Given the description of an element on the screen output the (x, y) to click on. 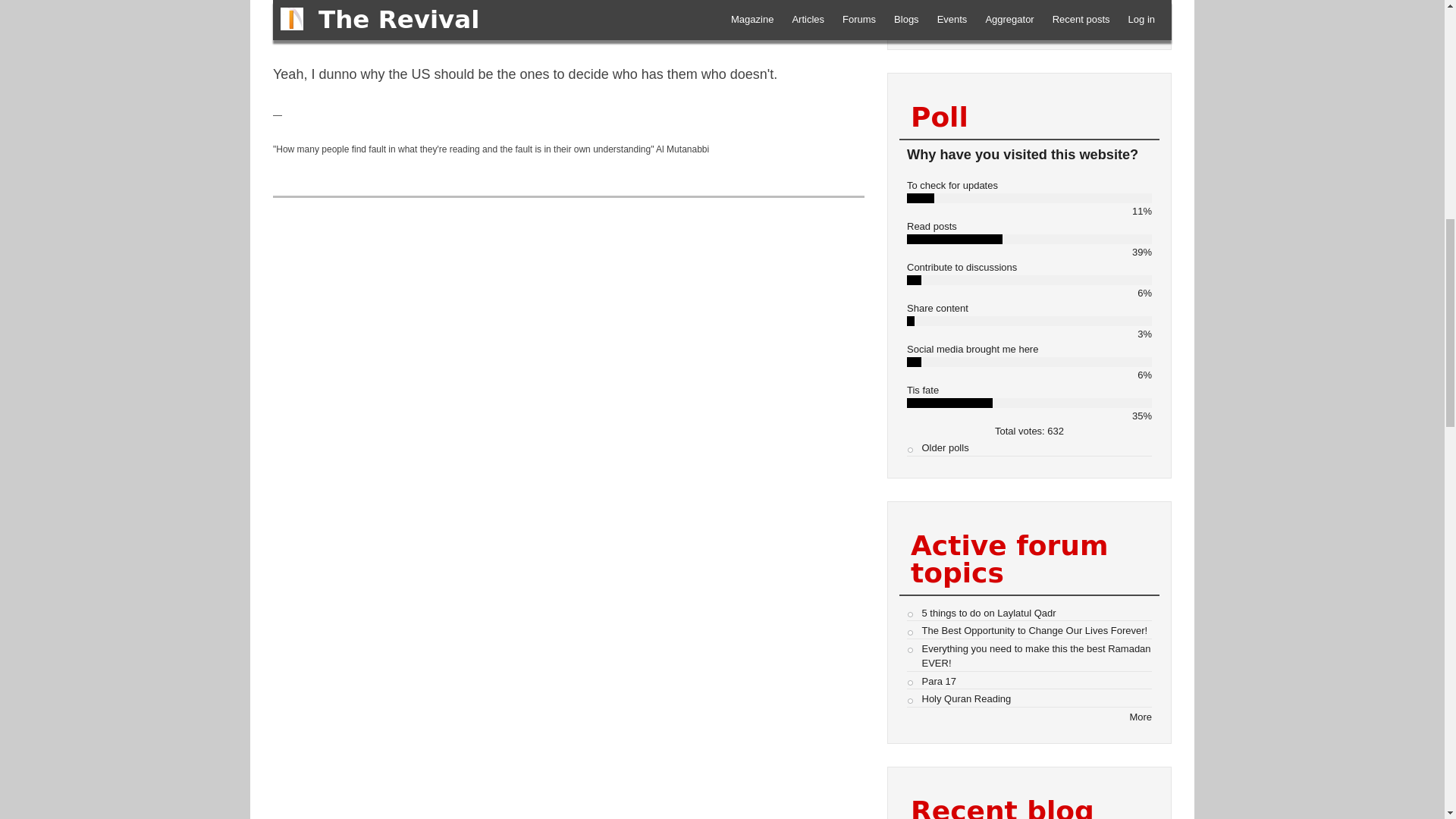
More (1140, 716)
View the list of polls on this site. (945, 447)
Older polls (945, 447)
Para 17 (938, 680)
The Best Opportunity to Change Our Lives Forever! (1034, 630)
Everything you need to make this the best Ramadan EVER! (1036, 655)
Holy Quran Reading (966, 698)
5 things to do on Laylatul Qadr (989, 612)
